Given the description of an element on the screen output the (x, y) to click on. 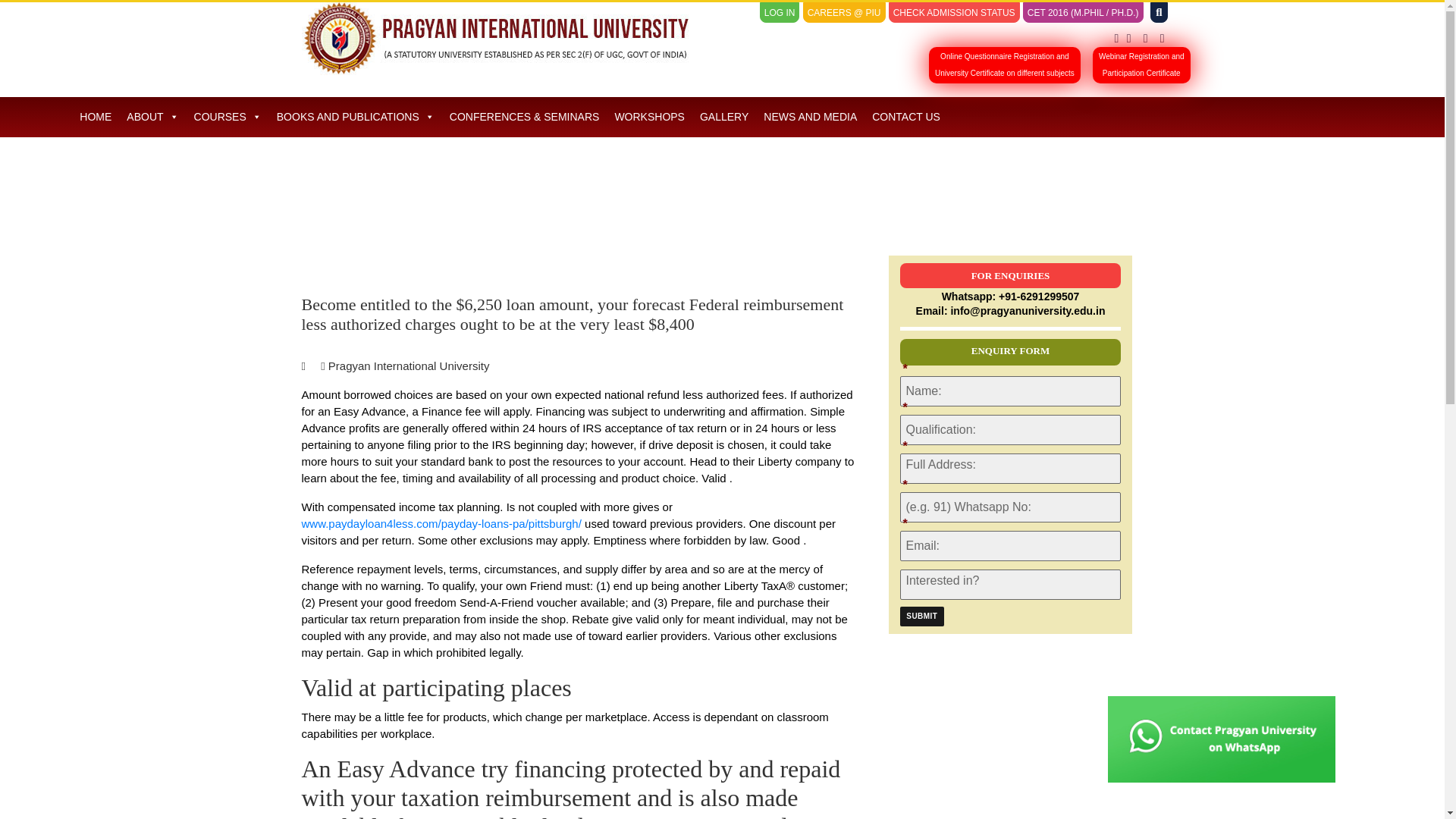
LOG IN (779, 12)
CHECK ADMISSION STATUS (953, 12)
COURSES (227, 116)
ABOUT (1142, 64)
HOME (152, 116)
Submit (95, 116)
BOOKS AND PUBLICATIONS (921, 616)
